Given the description of an element on the screen output the (x, y) to click on. 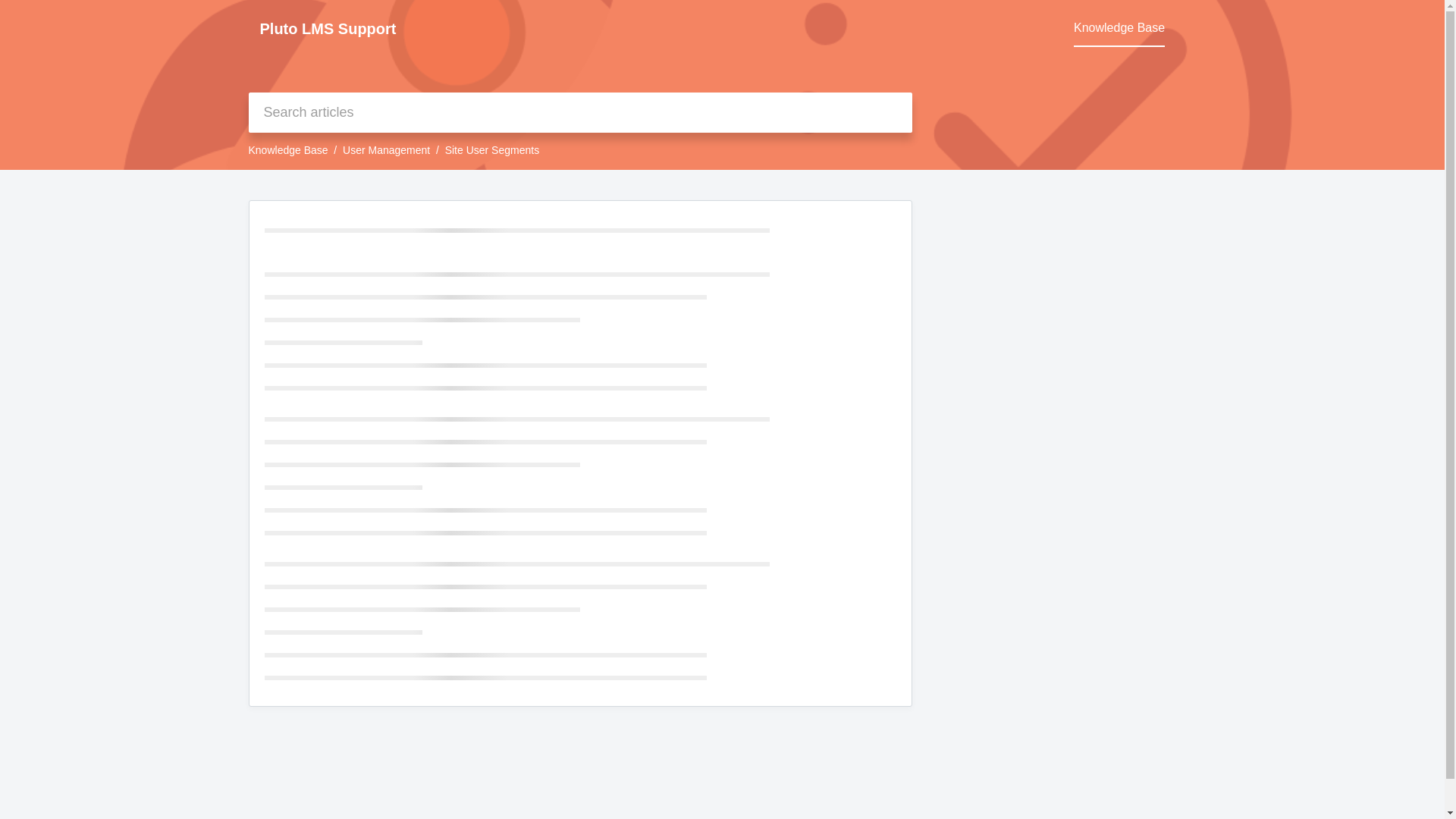
Knowledge Base (1119, 27)
Knowledge Base (1119, 27)
Knowledge Base (288, 150)
